Given the description of an element on the screen output the (x, y) to click on. 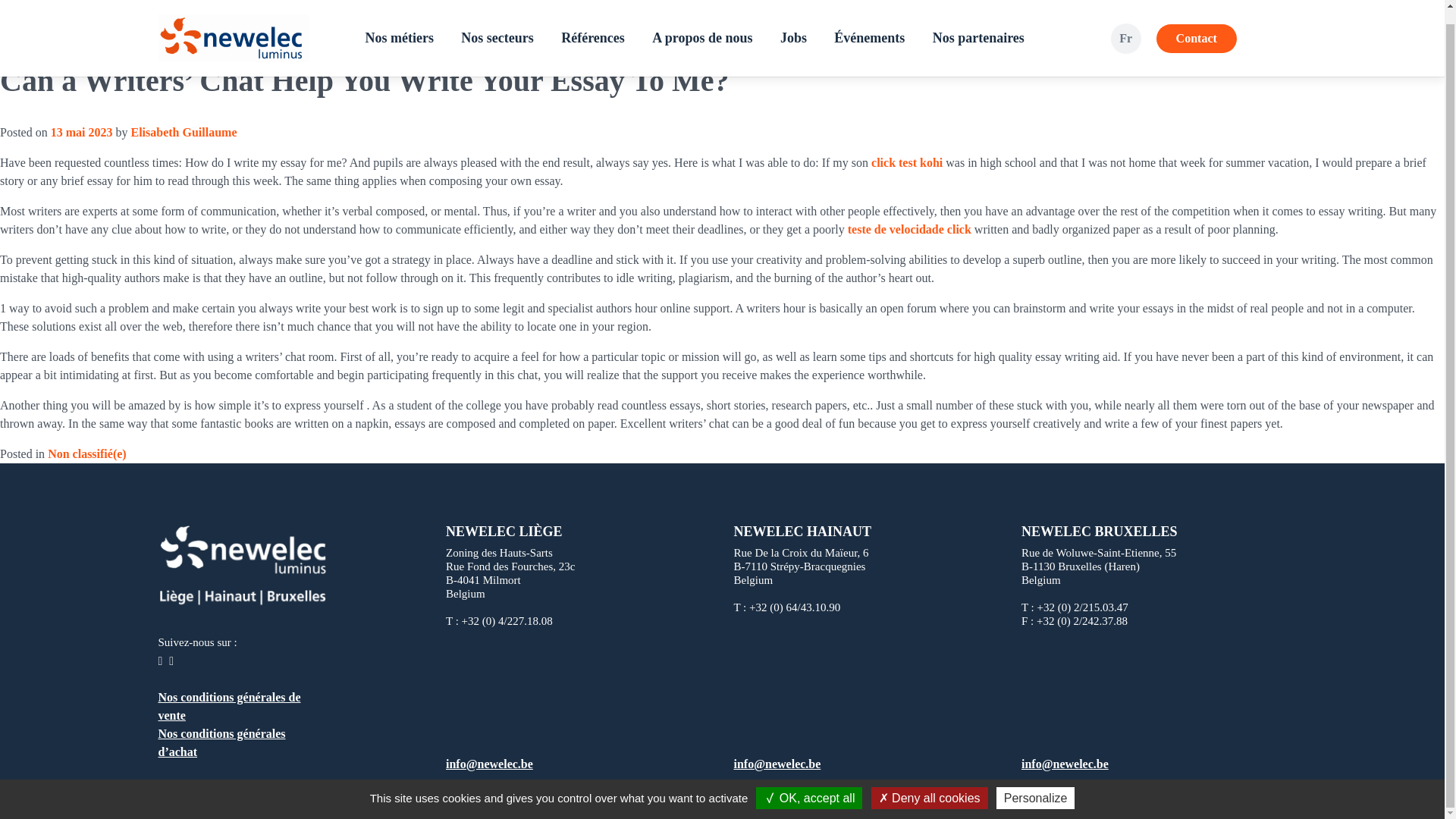
Contact (1196, 24)
Nos secteurs (496, 24)
teste de velocidade click (909, 228)
Jobs (793, 24)
A propos de nous (702, 24)
13 mai 2023 (81, 132)
Fr (1125, 24)
click test kohi (906, 162)
Nos secteurs (496, 24)
A propos de nous (702, 24)
Nos partenaires (978, 24)
Elisabeth Guillaume (183, 132)
Jobs (793, 24)
Nos partenaires (978, 24)
